Given the description of an element on the screen output the (x, y) to click on. 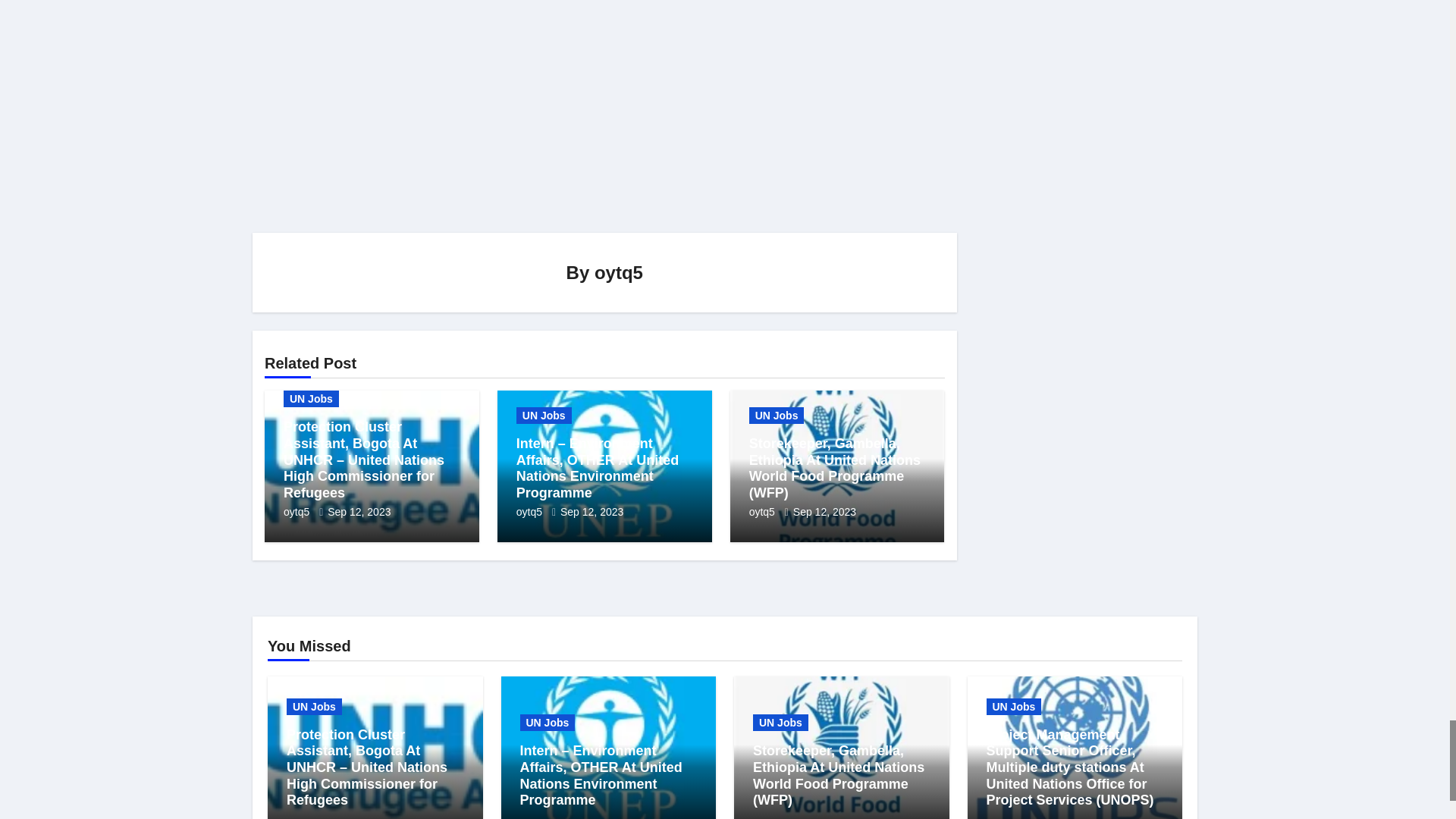
Sep 12, 2023 (358, 511)
Sep 12, 2023 (591, 511)
oytq5 (530, 511)
UN Jobs (311, 398)
UN Jobs (544, 415)
oytq5 (618, 272)
oytq5 (298, 511)
UN Jobs (777, 415)
